Given the description of an element on the screen output the (x, y) to click on. 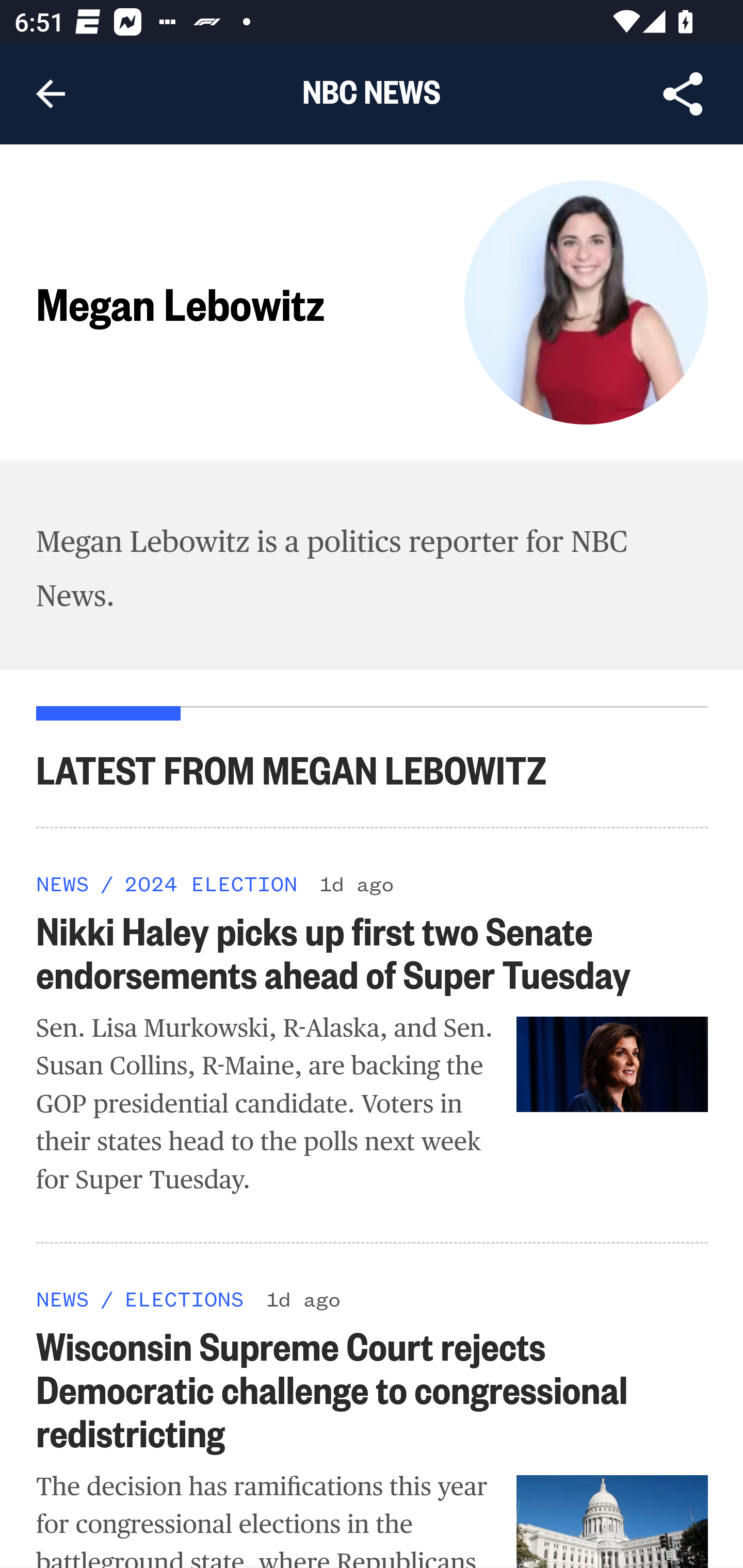
Navigate up (50, 93)
Share Article, button (683, 94)
NEWS NEWS NEWS (63, 882)
2024 ELECTION 2024 ELECTION 2024 ELECTION (209, 882)
NEWS NEWS NEWS (63, 1297)
ELECTIONS ELECTIONS ELECTIONS (183, 1297)
